Given the description of an element on the screen output the (x, y) to click on. 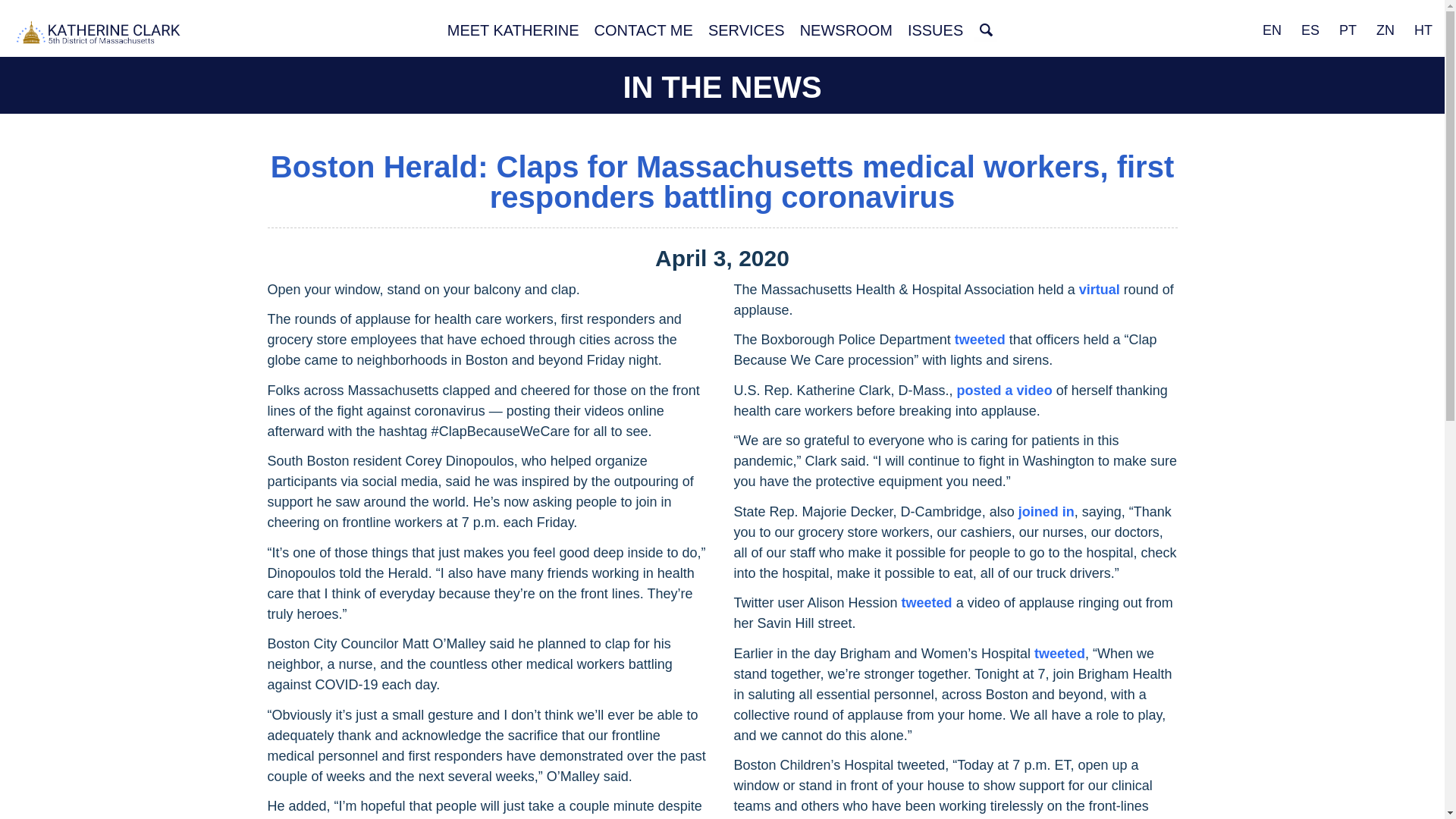
ES (1310, 30)
MEET KATHERINE (512, 30)
SERVICES (746, 30)
ISSUES (935, 30)
CONGRESSWOMAN KATHERINE CLARK (98, 34)
EN (1271, 30)
NEWSROOM (845, 30)
CONTACT ME (643, 30)
